Given the description of an element on the screen output the (x, y) to click on. 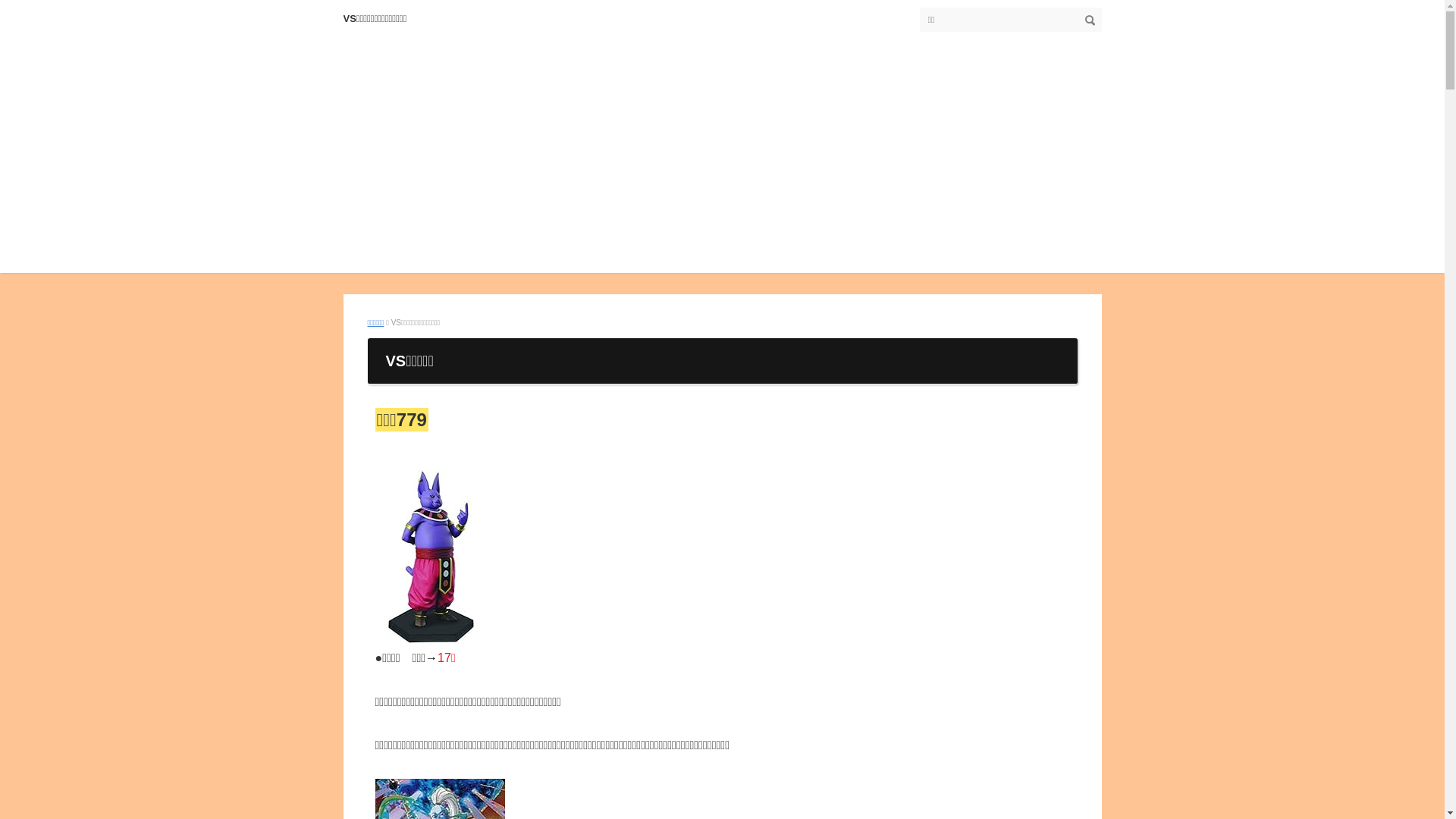
Advertisement Element type: hover (721, 166)
